Given the description of an element on the screen output the (x, y) to click on. 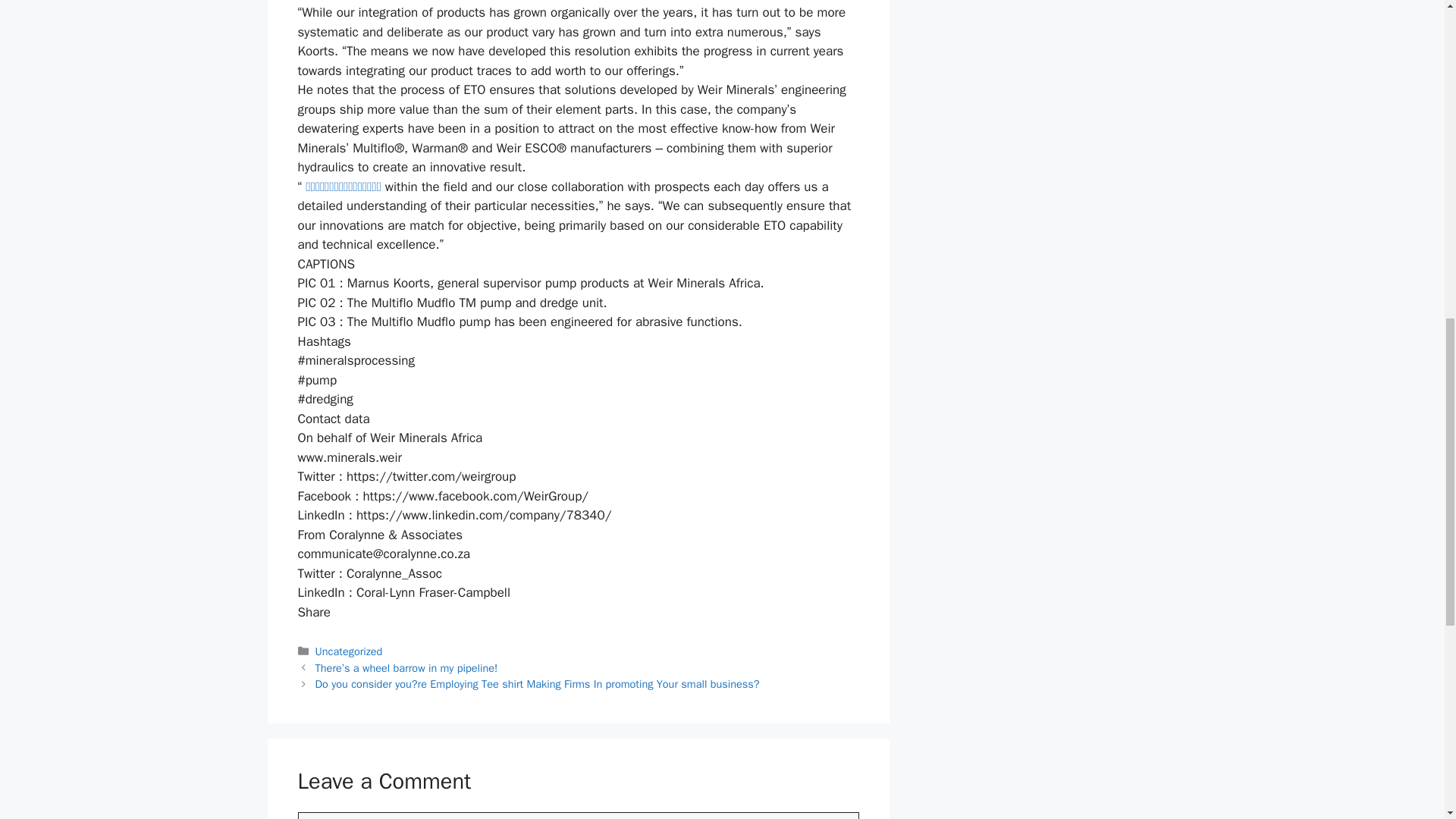
Uncategorized (348, 651)
